Given the description of an element on the screen output the (x, y) to click on. 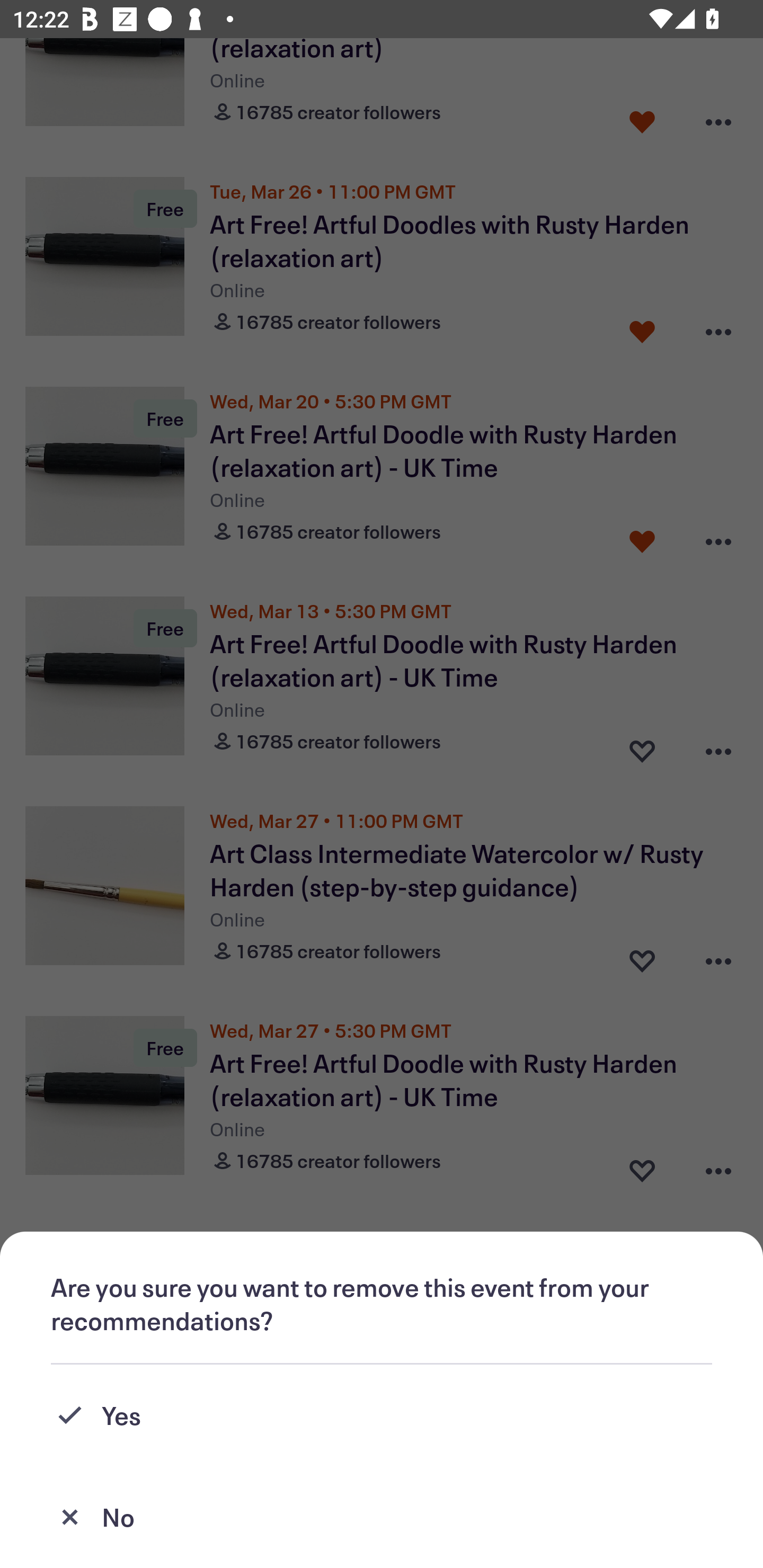
Yes (381, 1415)
No (381, 1517)
